Given the description of an element on the screen output the (x, y) to click on. 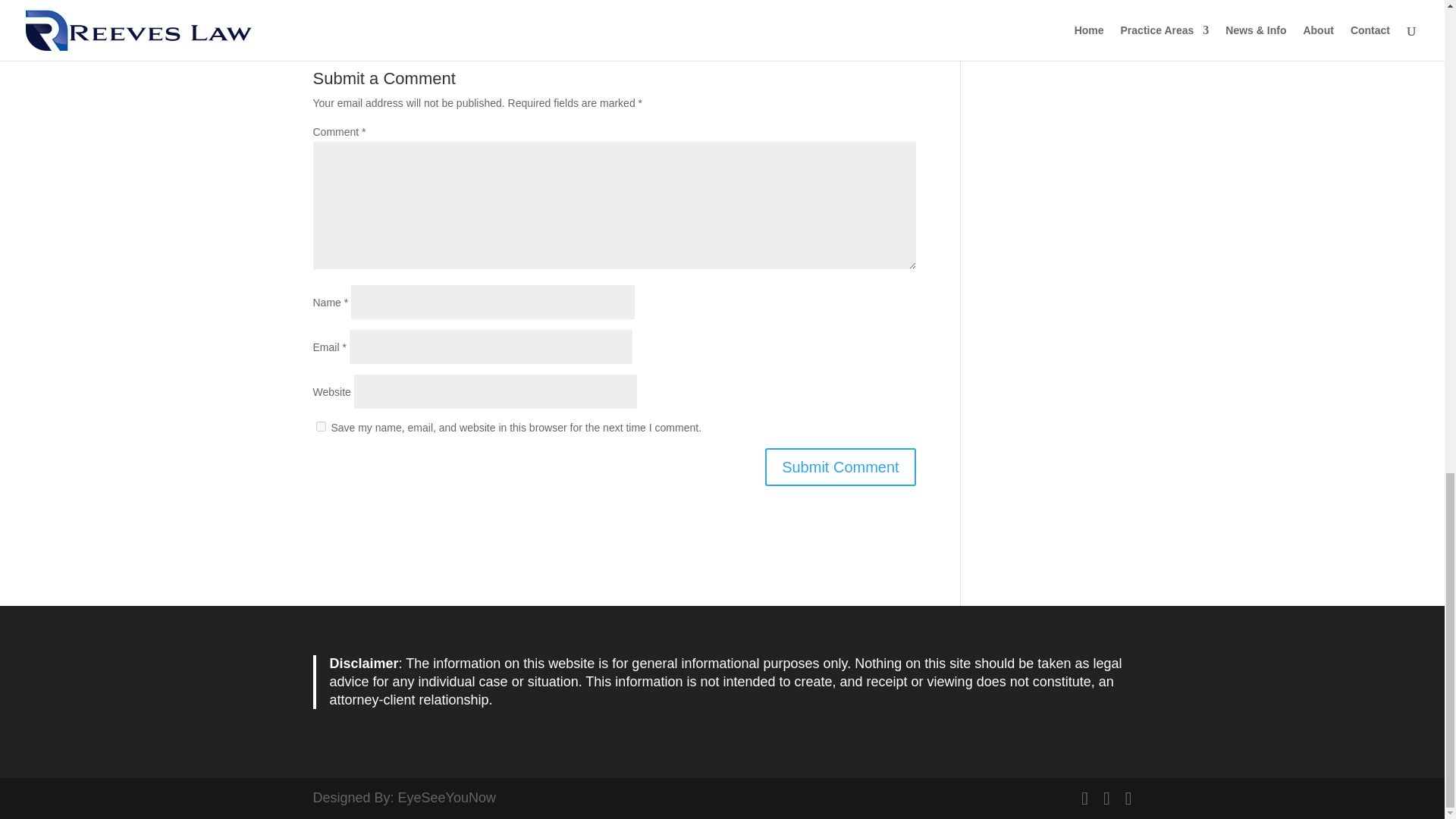
Submit Comment (840, 466)
yes (319, 426)
Submit Comment (840, 466)
